Given the description of an element on the screen output the (x, y) to click on. 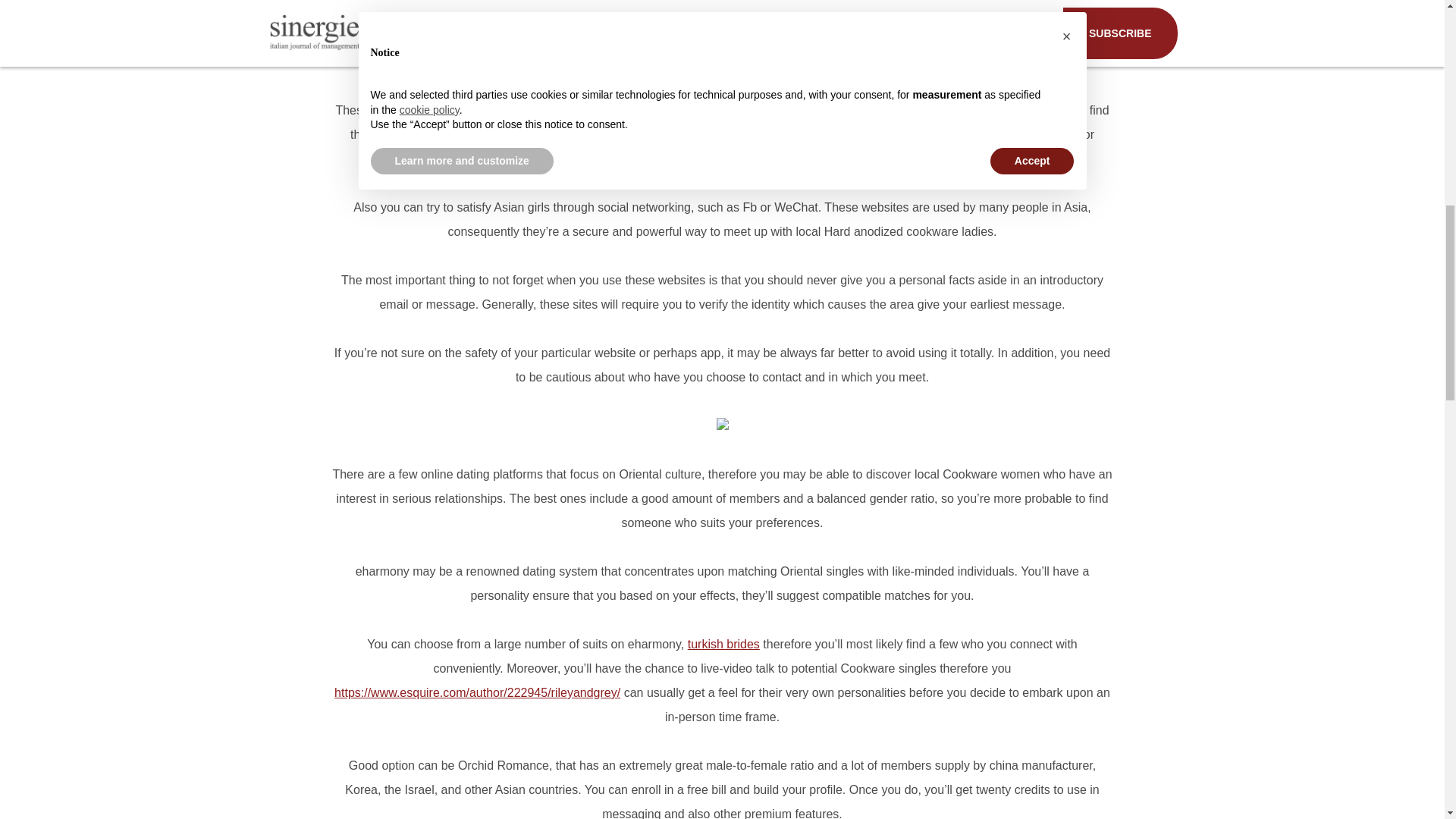
turkish brides (723, 644)
